Given the description of an element on the screen output the (x, y) to click on. 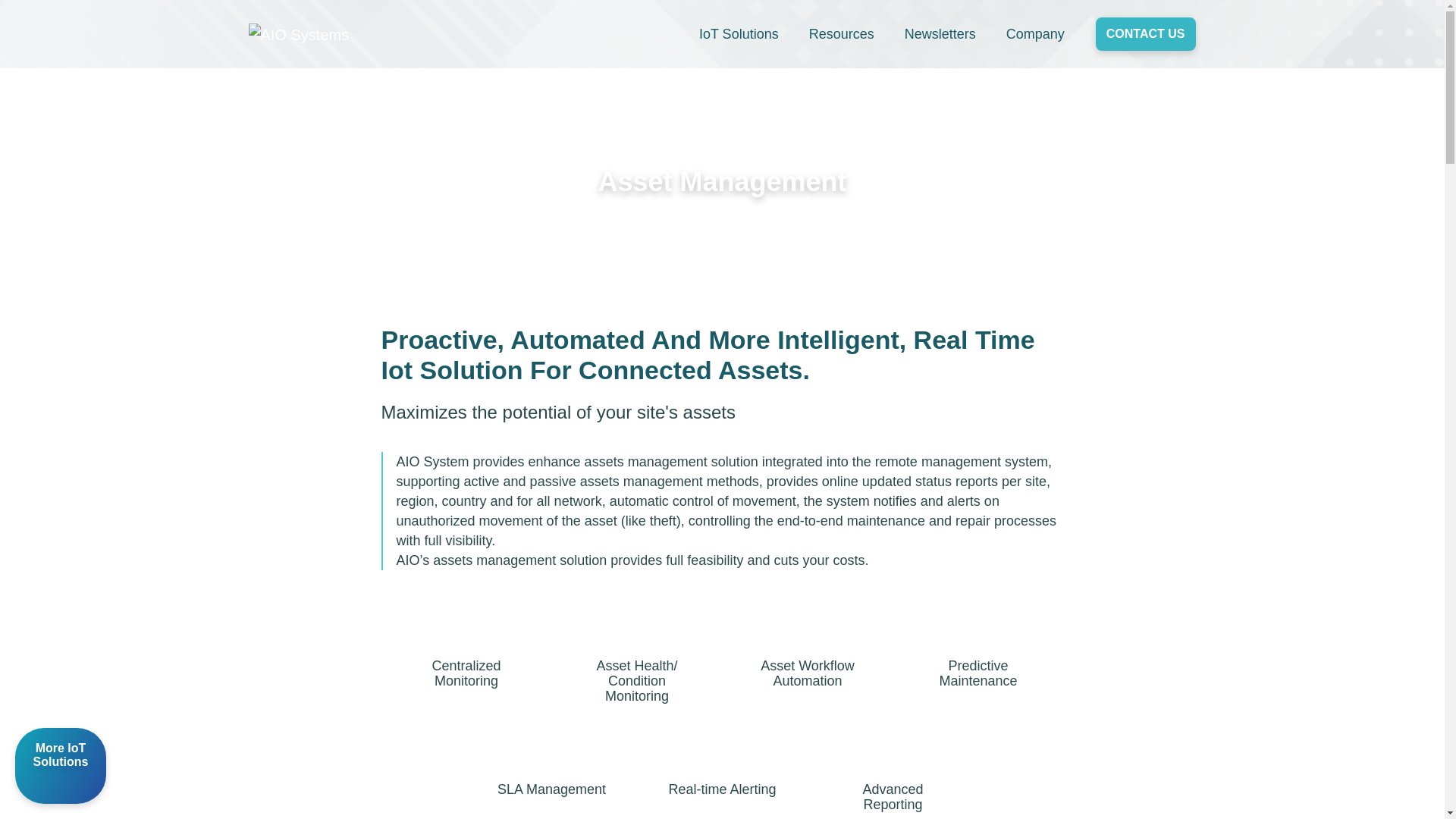
CONTACT US (1145, 33)
Resources (842, 34)
Resources (842, 34)
Company (1035, 34)
Newsletters (939, 34)
IoT Solutions (738, 34)
Newsletters (939, 34)
Company (1035, 34)
IoT Solutions (738, 34)
